Given the description of an element on the screen output the (x, y) to click on. 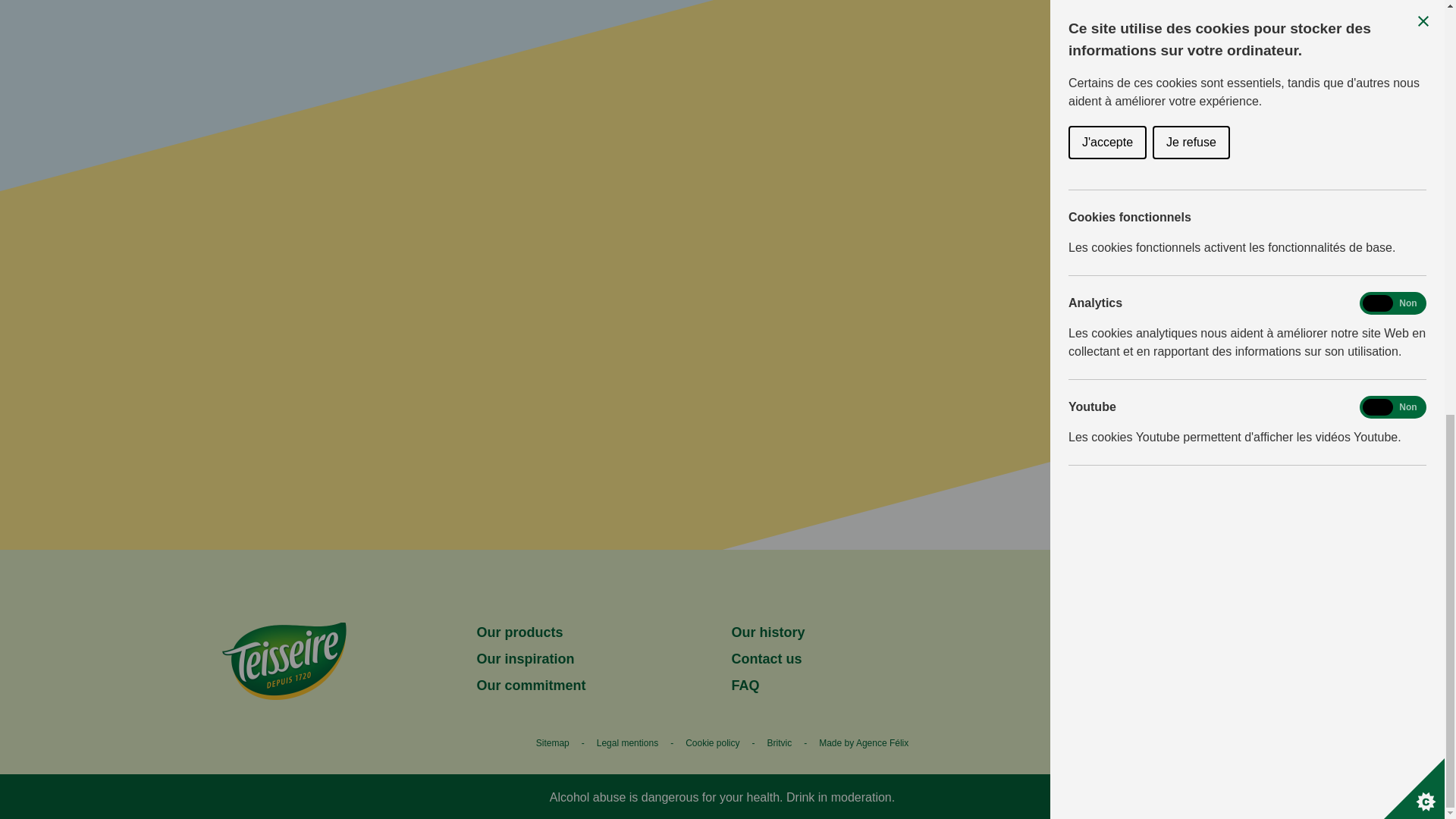
Our history (767, 631)
Our inspiration (524, 659)
Contact us (766, 659)
Our products (519, 631)
Our commitment (530, 685)
FAQ (744, 685)
